Given the description of an element on the screen output the (x, y) to click on. 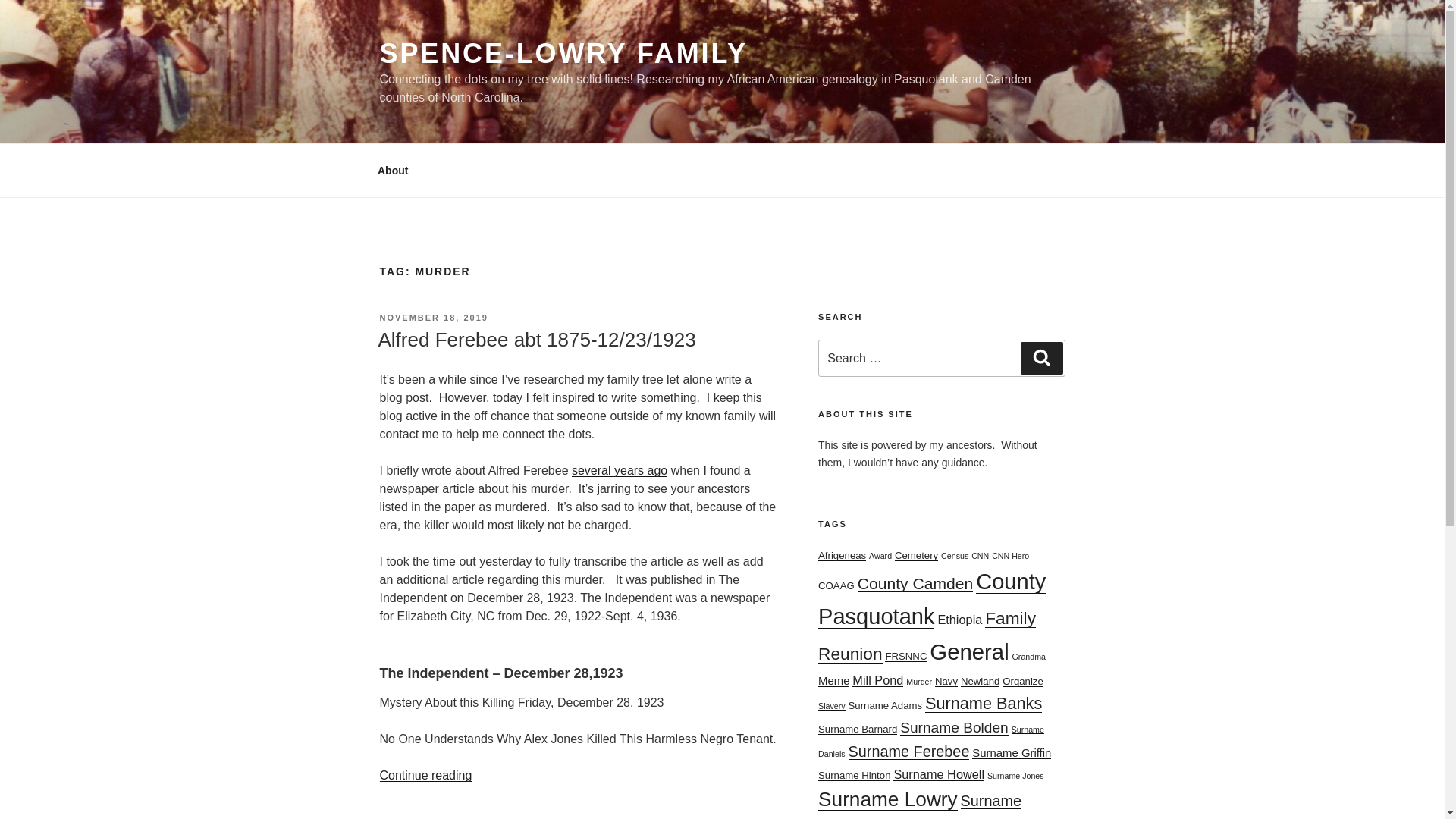
Ethiopia (959, 619)
Surname Ferebee (908, 751)
Search (1041, 357)
Cemetery (916, 555)
Surname Griffin (1011, 752)
Newland (979, 681)
Surname Hinton (853, 775)
SPENCE-LOWRY FAMILY (562, 52)
CNN (979, 555)
NOVEMBER 18, 2019 (432, 317)
